Given the description of an element on the screen output the (x, y) to click on. 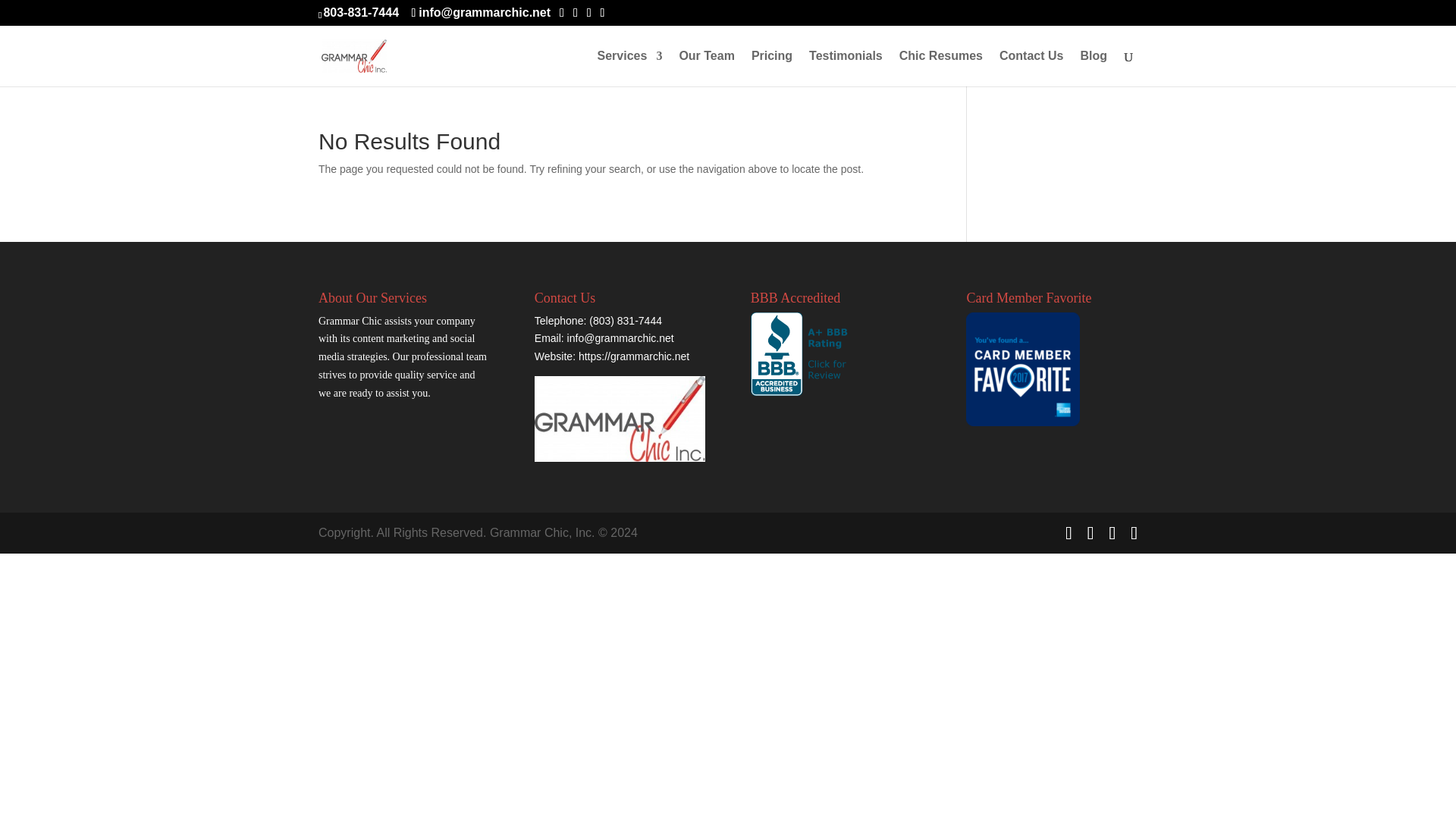
Our Team (706, 68)
Contact Us (1030, 68)
Chic Resumes (940, 68)
Pricing (771, 68)
Testimonials (845, 68)
803-831-7444 (360, 11)
Services (629, 68)
